Given the description of an element on the screen output the (x, y) to click on. 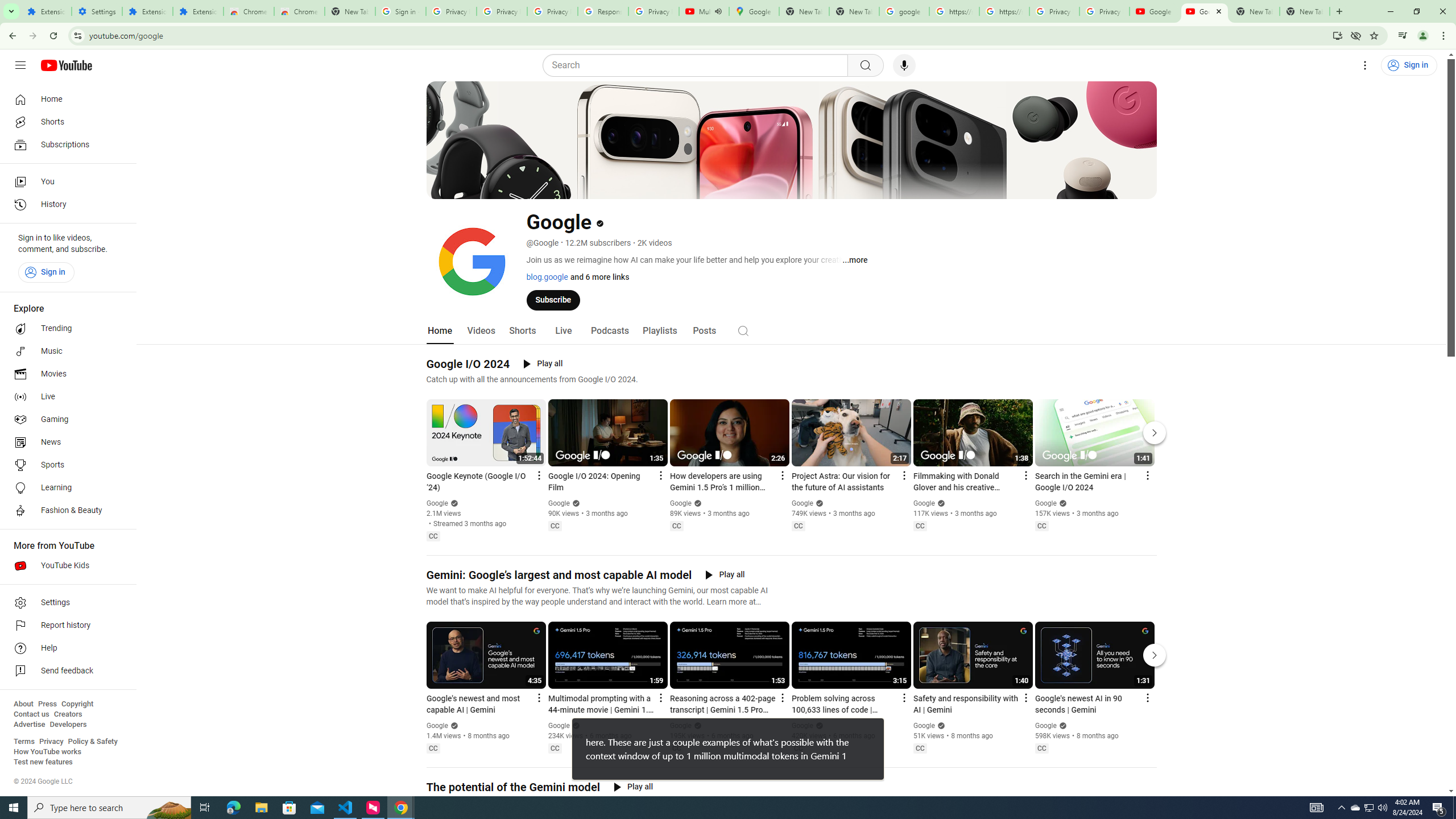
Music (64, 350)
About (23, 703)
Contact us (31, 714)
Sign in - Google Accounts (399, 11)
Search (697, 65)
Guide (20, 65)
Gaming (64, 419)
Advertise (29, 724)
History (64, 204)
